Given the description of an element on the screen output the (x, y) to click on. 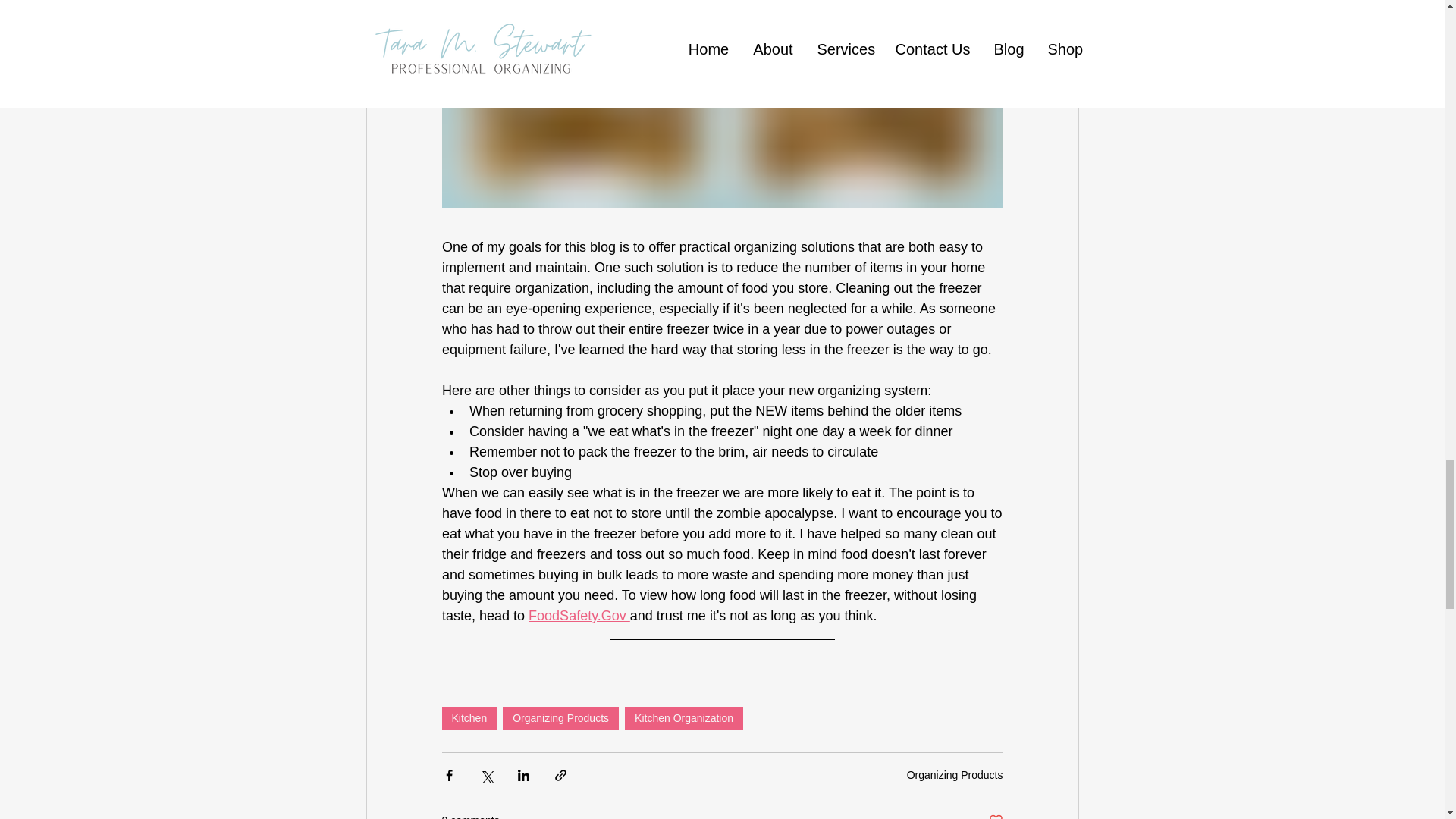
FoodSafety.Gov  (579, 615)
